Given the description of an element on the screen output the (x, y) to click on. 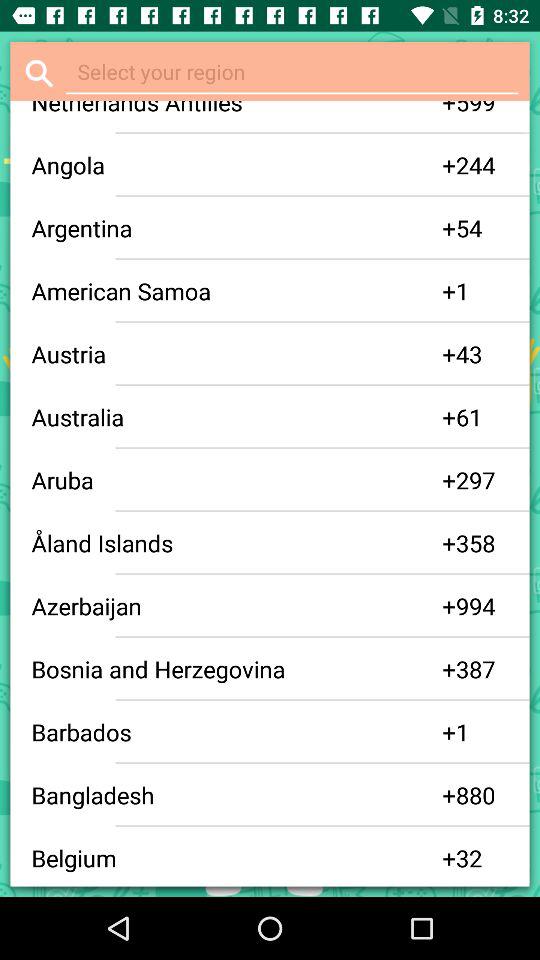
swipe to the 387 icon (482, 669)
